Given the description of an element on the screen output the (x, y) to click on. 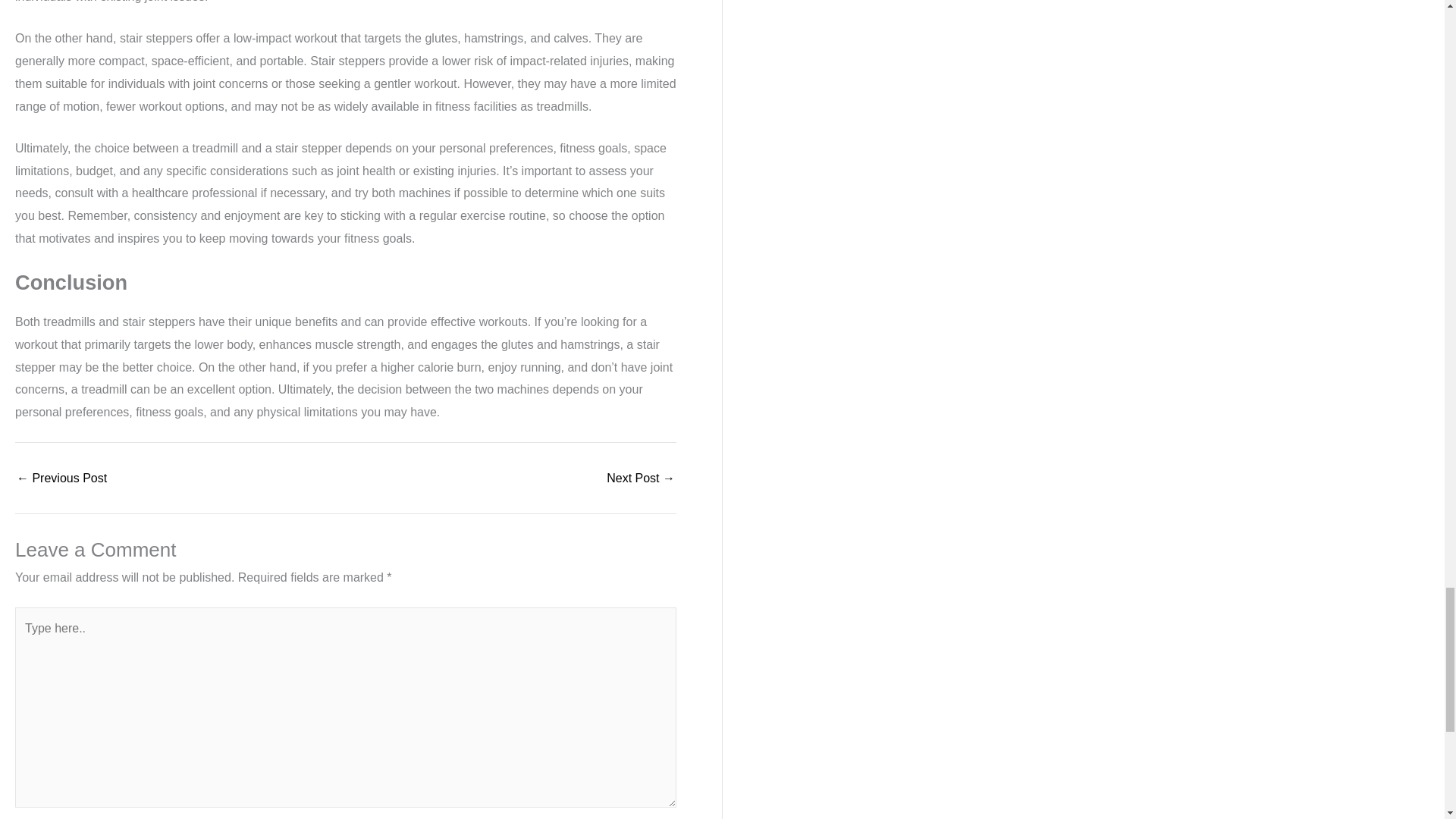
Treadmill Walking vs. Outdoor Walking: Pros and Cons (61, 478)
